Given the description of an element on the screen output the (x, y) to click on. 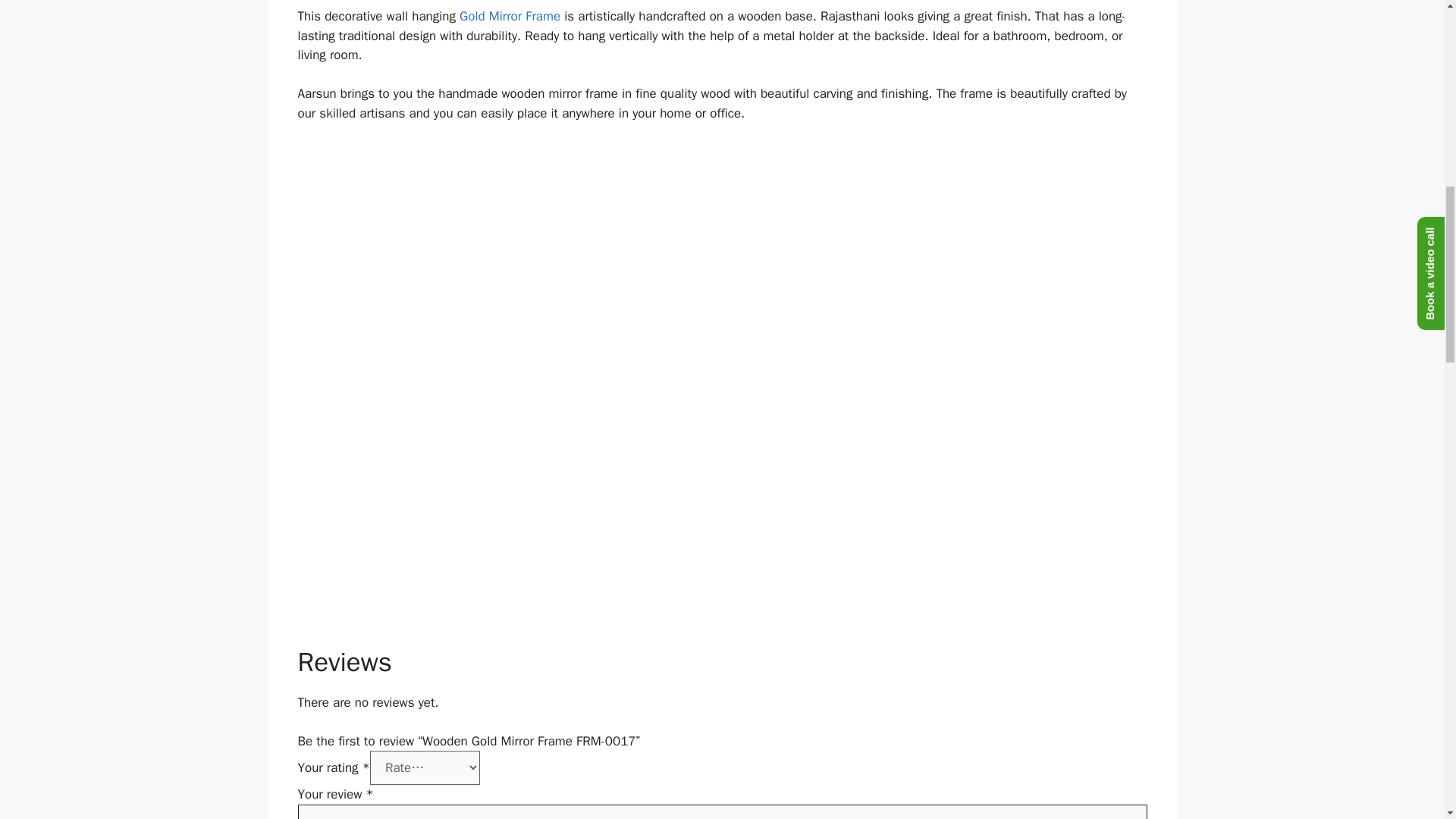
Scroll back to top (1406, 720)
